Given the description of an element on the screen output the (x, y) to click on. 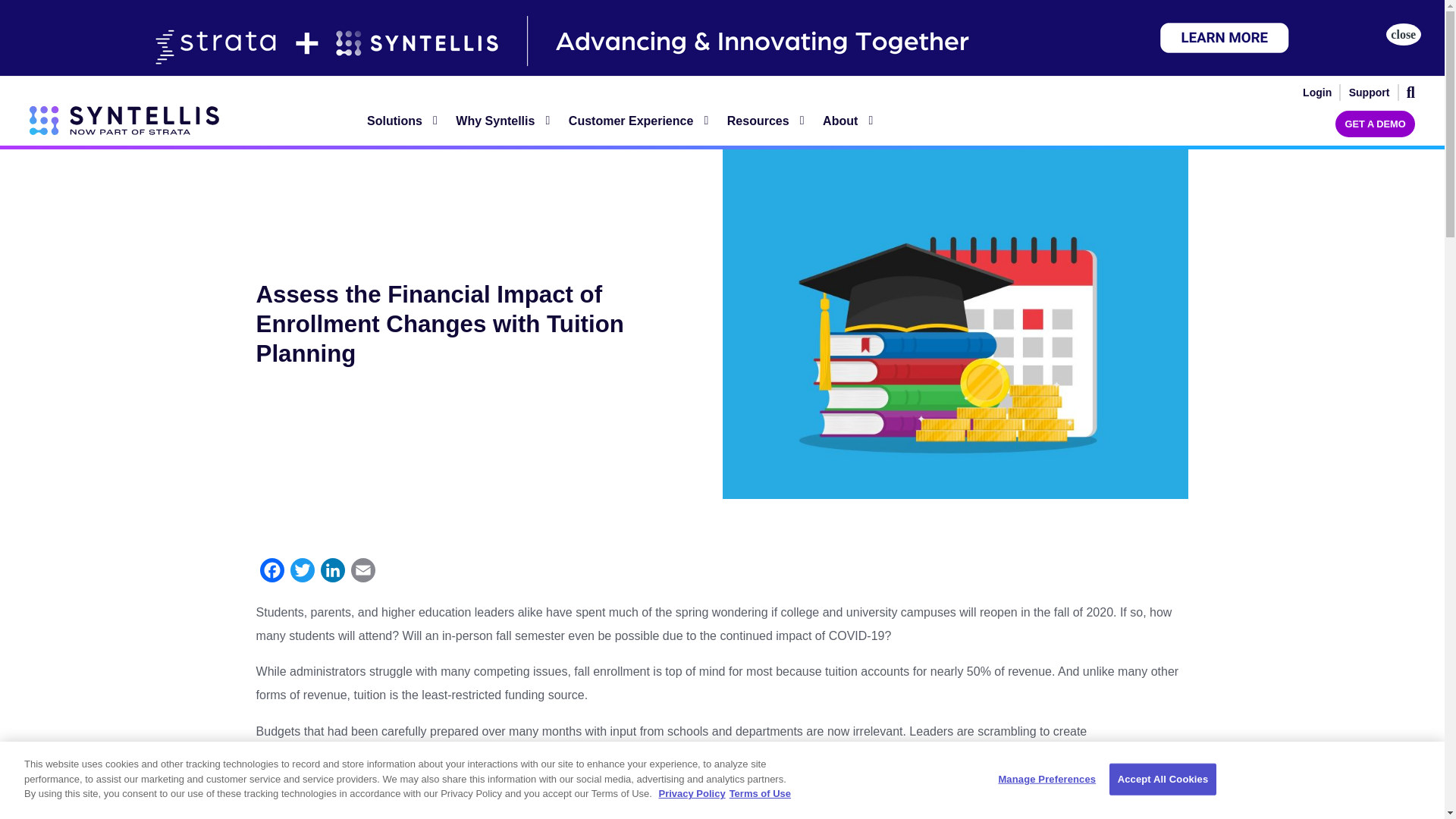
Market Solutions Login (1317, 92)
Home (124, 120)
